Given the description of an element on the screen output the (x, y) to click on. 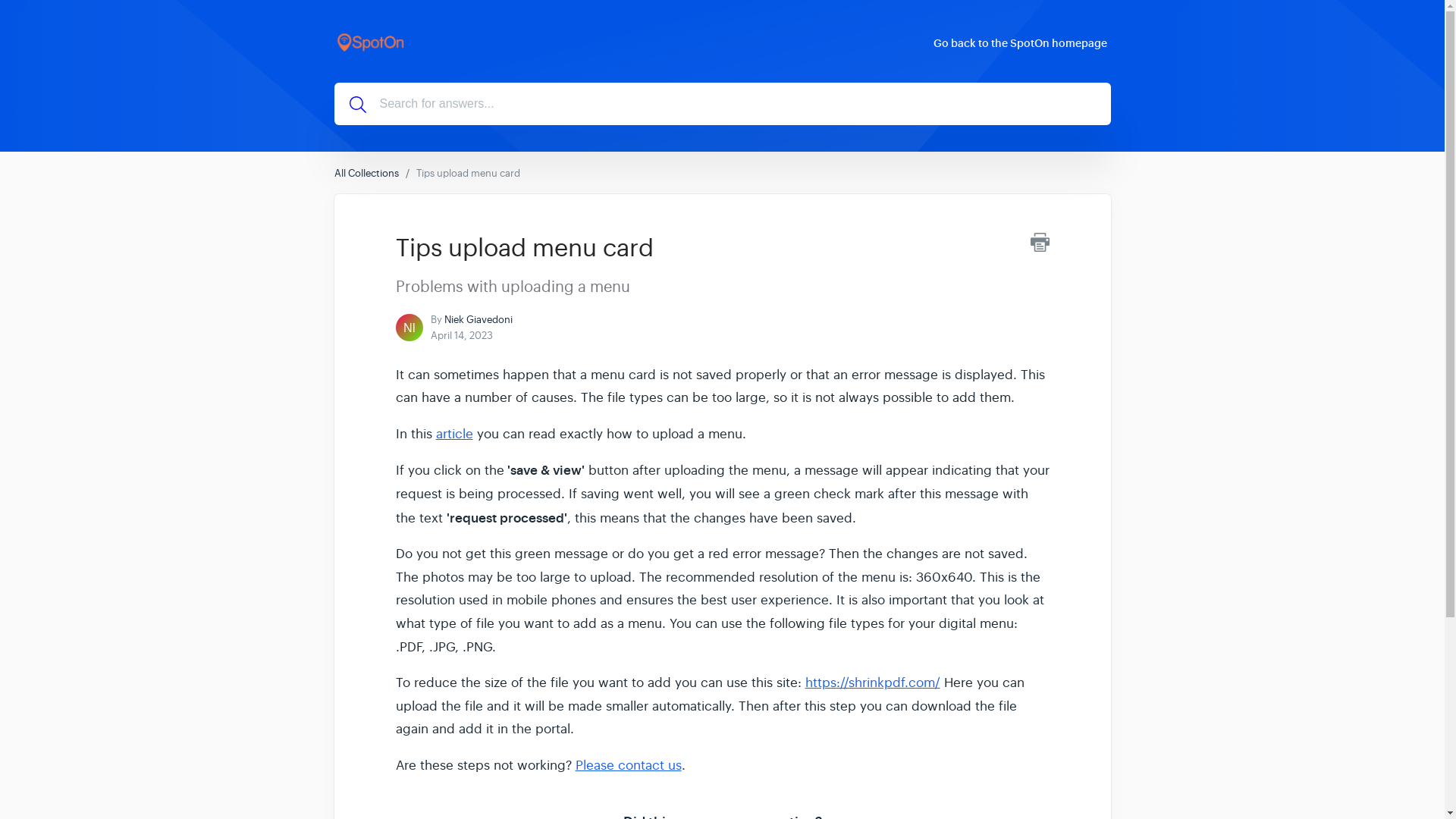
All Collections (365, 173)
article (453, 433)
Go back to the SpotOn homepage (1021, 42)
Please contact us (628, 765)
